Given the description of an element on the screen output the (x, y) to click on. 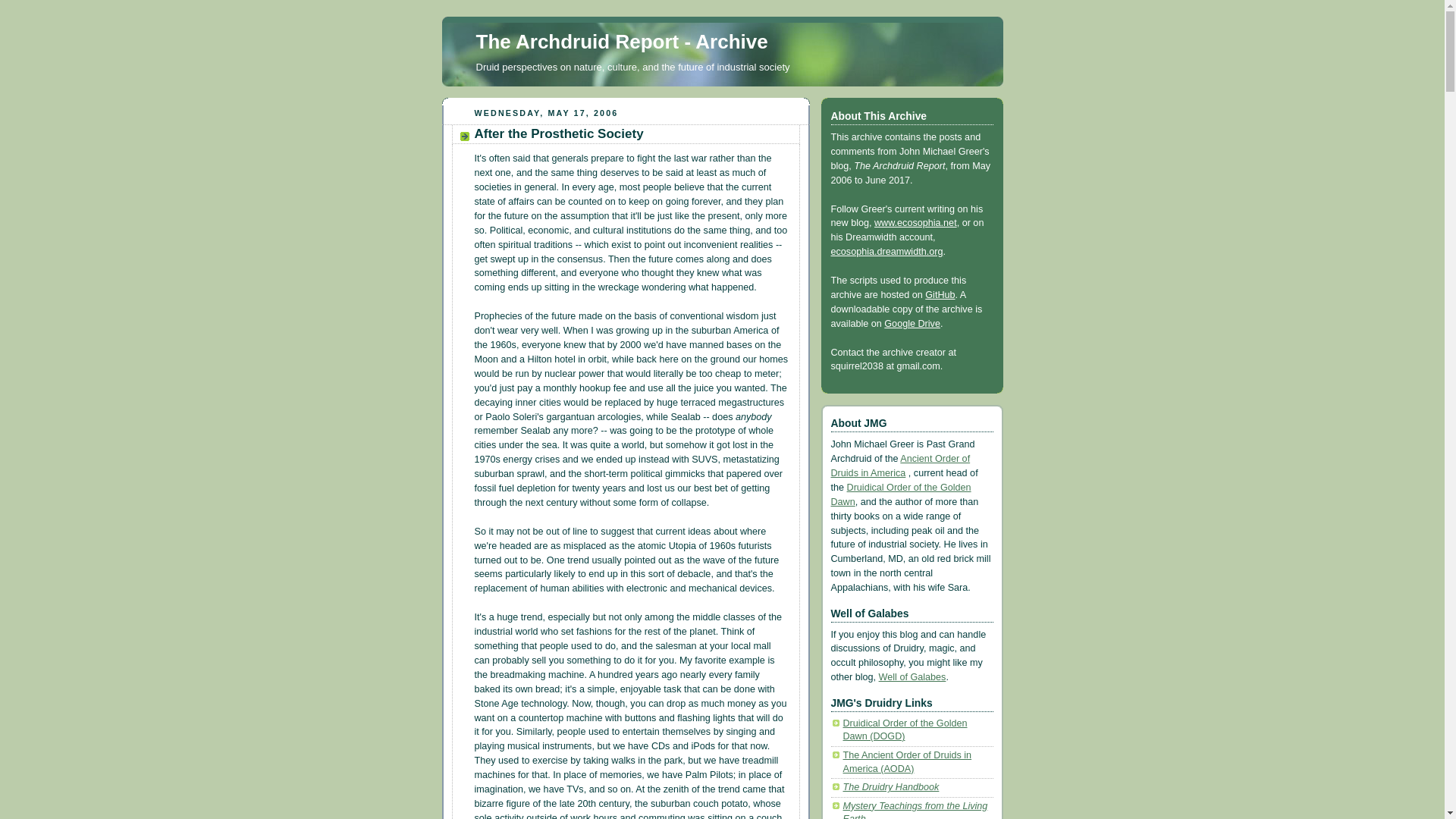
Google Drive (911, 323)
The Druidry Handbook (891, 787)
Mystery Teachings from the Living Earth (915, 809)
GitHub (939, 294)
Ancient Order of Druids in America (901, 465)
Well of Galabes (912, 676)
Druidical Order of the Golden Dawn (901, 494)
ecosophia.dreamwidth.org (887, 251)
www.ecosophia.net (915, 222)
The Archdruid Report - Archive (622, 41)
